Given the description of an element on the screen output the (x, y) to click on. 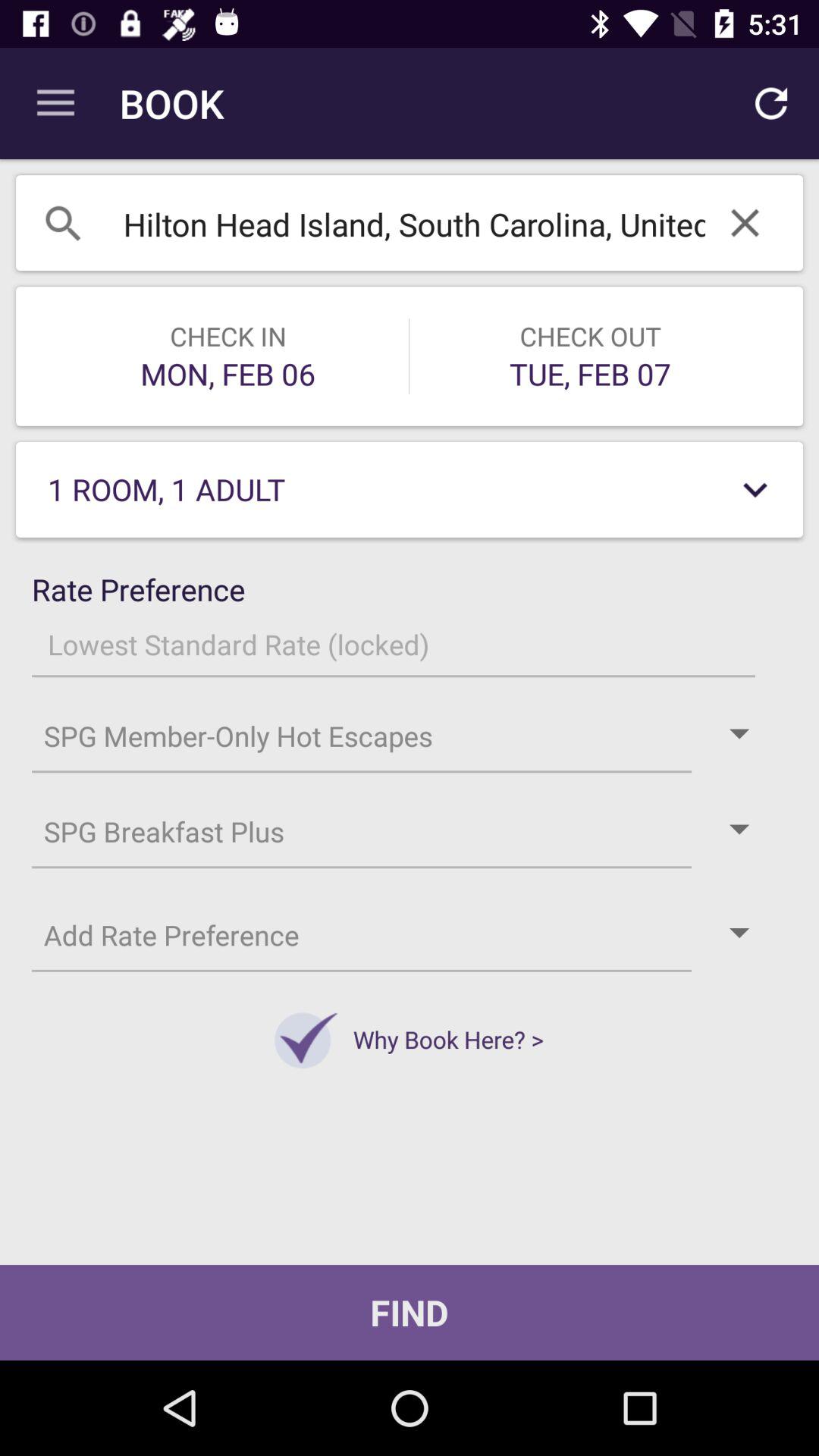
close the box (744, 222)
